Given the description of an element on the screen output the (x, y) to click on. 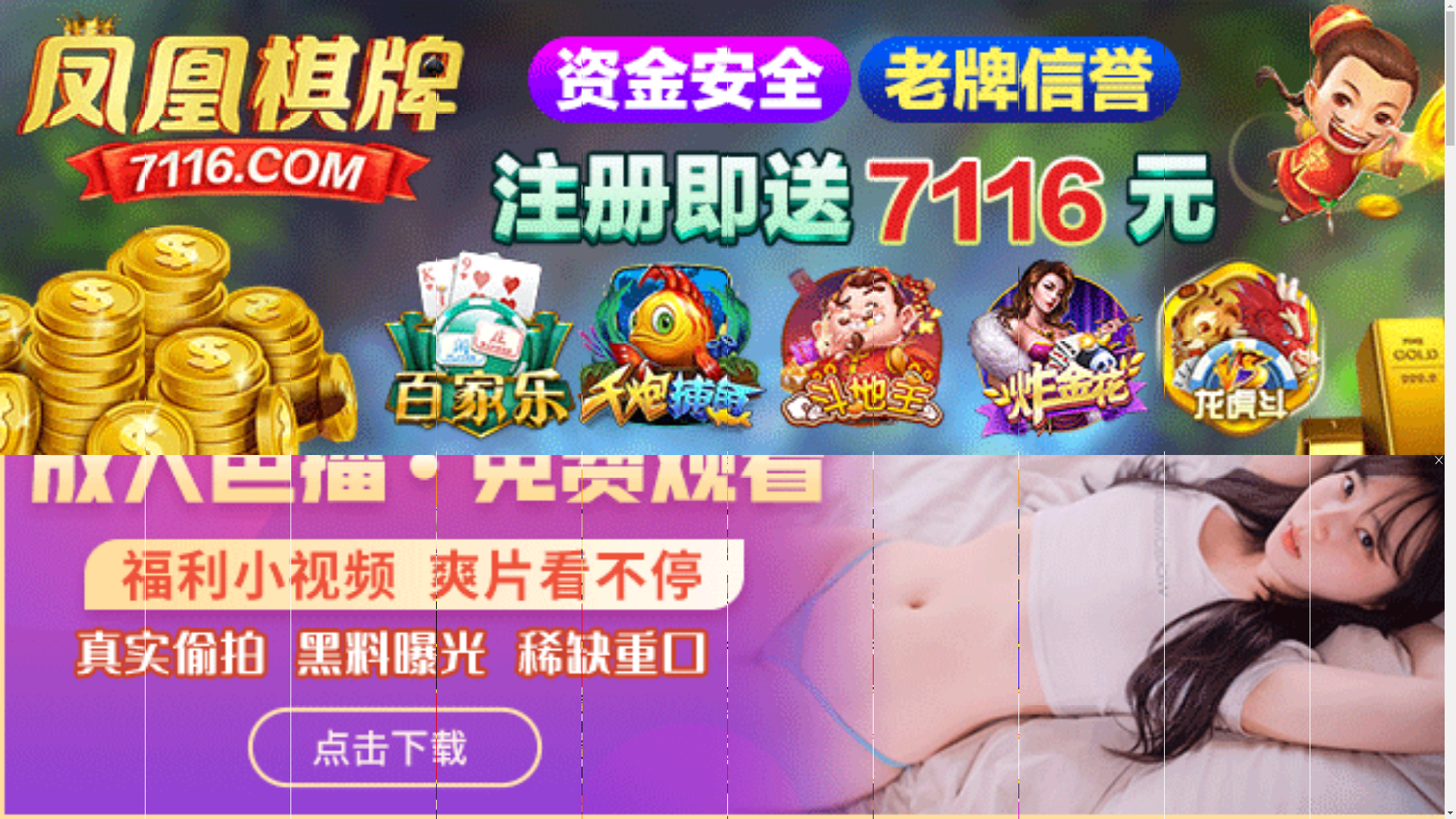
07pa.com Element type: text (721, 491)
